Given the description of an element on the screen output the (x, y) to click on. 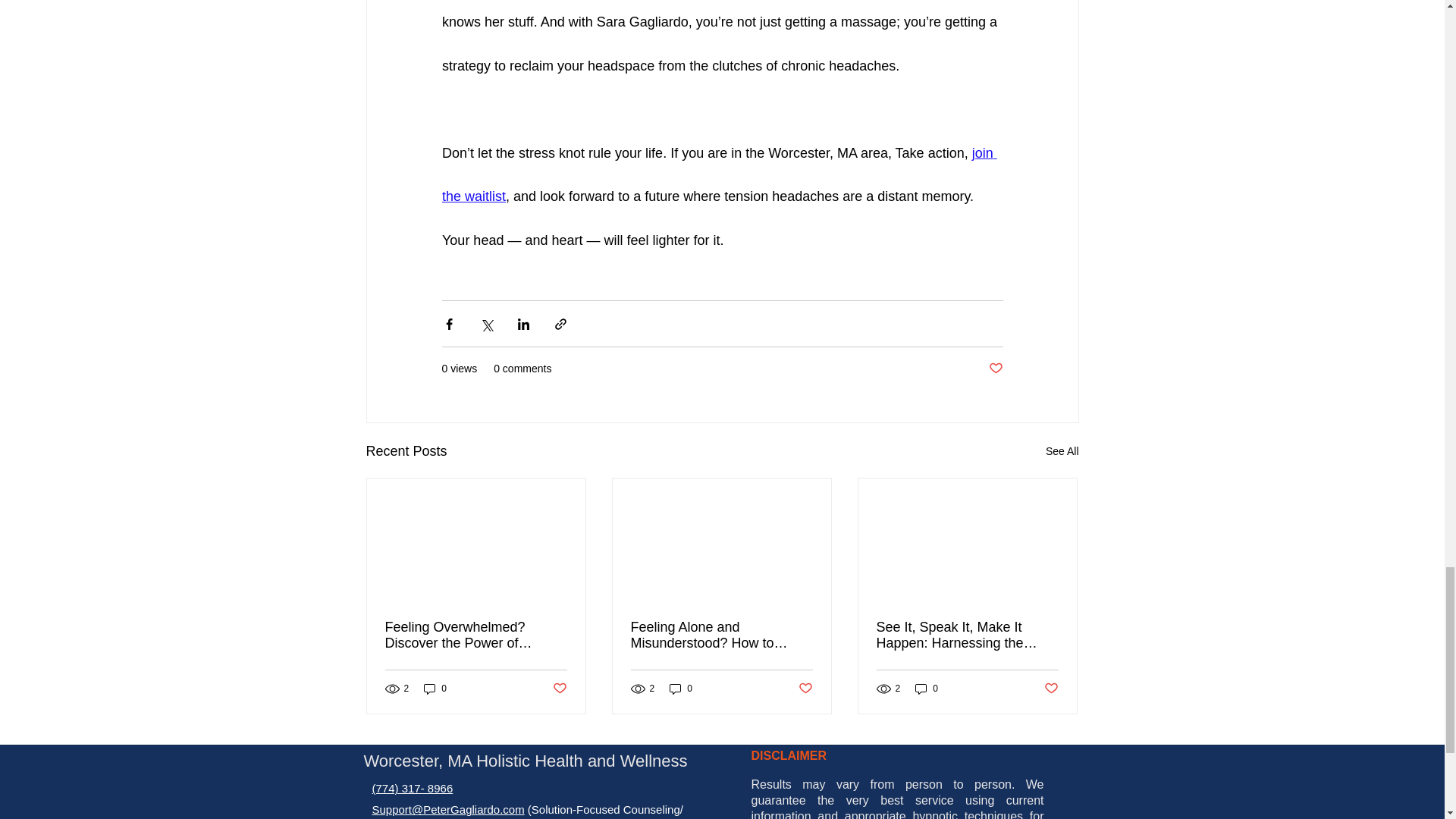
Post not marked as liked (995, 368)
join the waitlist (718, 174)
See All (1061, 451)
Worcester, MA Holistic Health and Wellness (524, 760)
0 (681, 688)
Post not marked as liked (804, 688)
0 (926, 688)
